Given the description of an element on the screen output the (x, y) to click on. 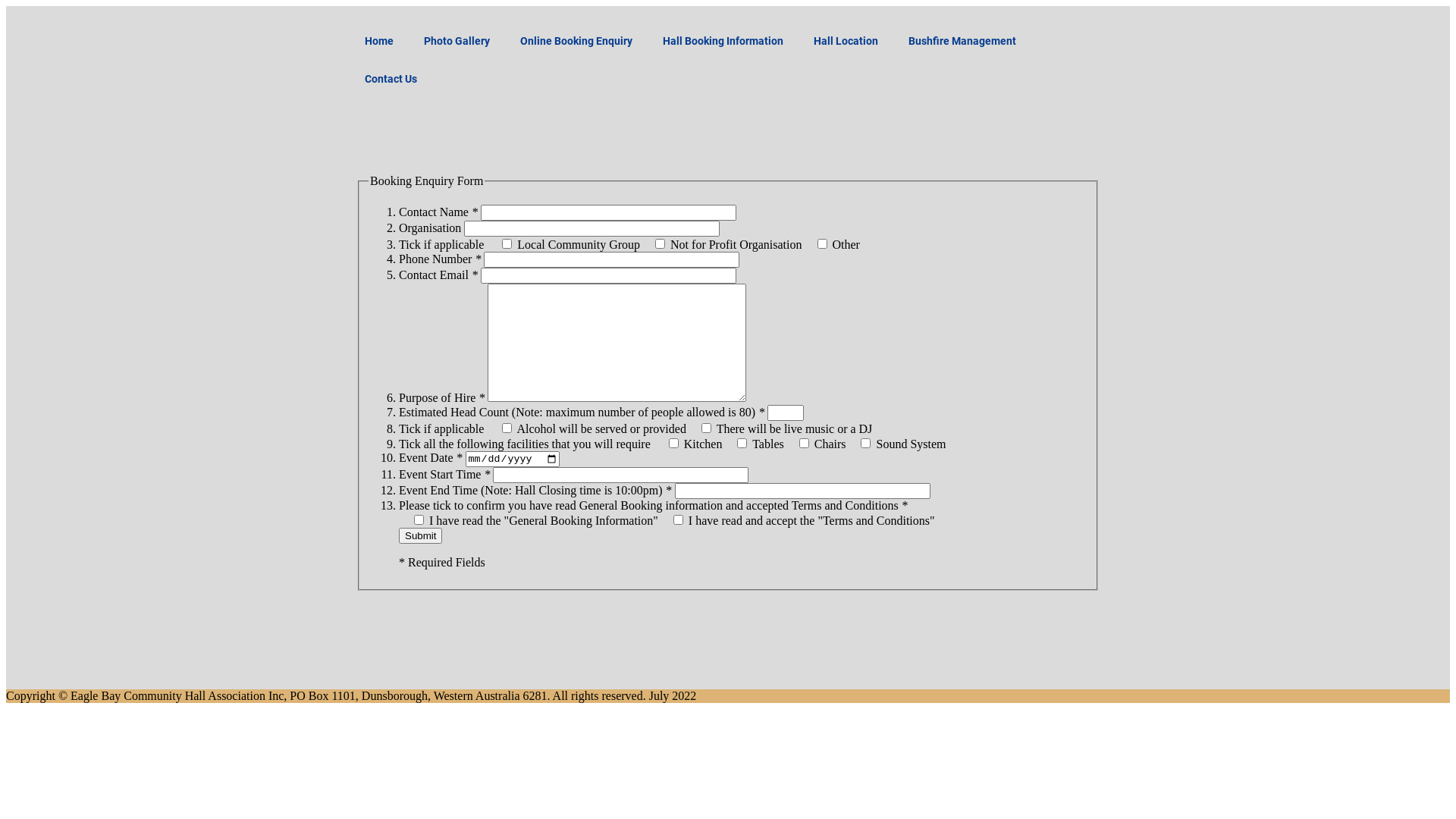
Bushfire Management Element type: text (962, 40)
Home Element type: text (378, 40)
Hall Location Element type: text (845, 40)
Photo Gallery Element type: text (456, 40)
Online Booking Enquiry Element type: text (576, 40)
Hall Booking Information Element type: text (722, 40)
Contact Us Element type: text (390, 78)
Submit Element type: text (420, 535)
